Given the description of an element on the screen output the (x, y) to click on. 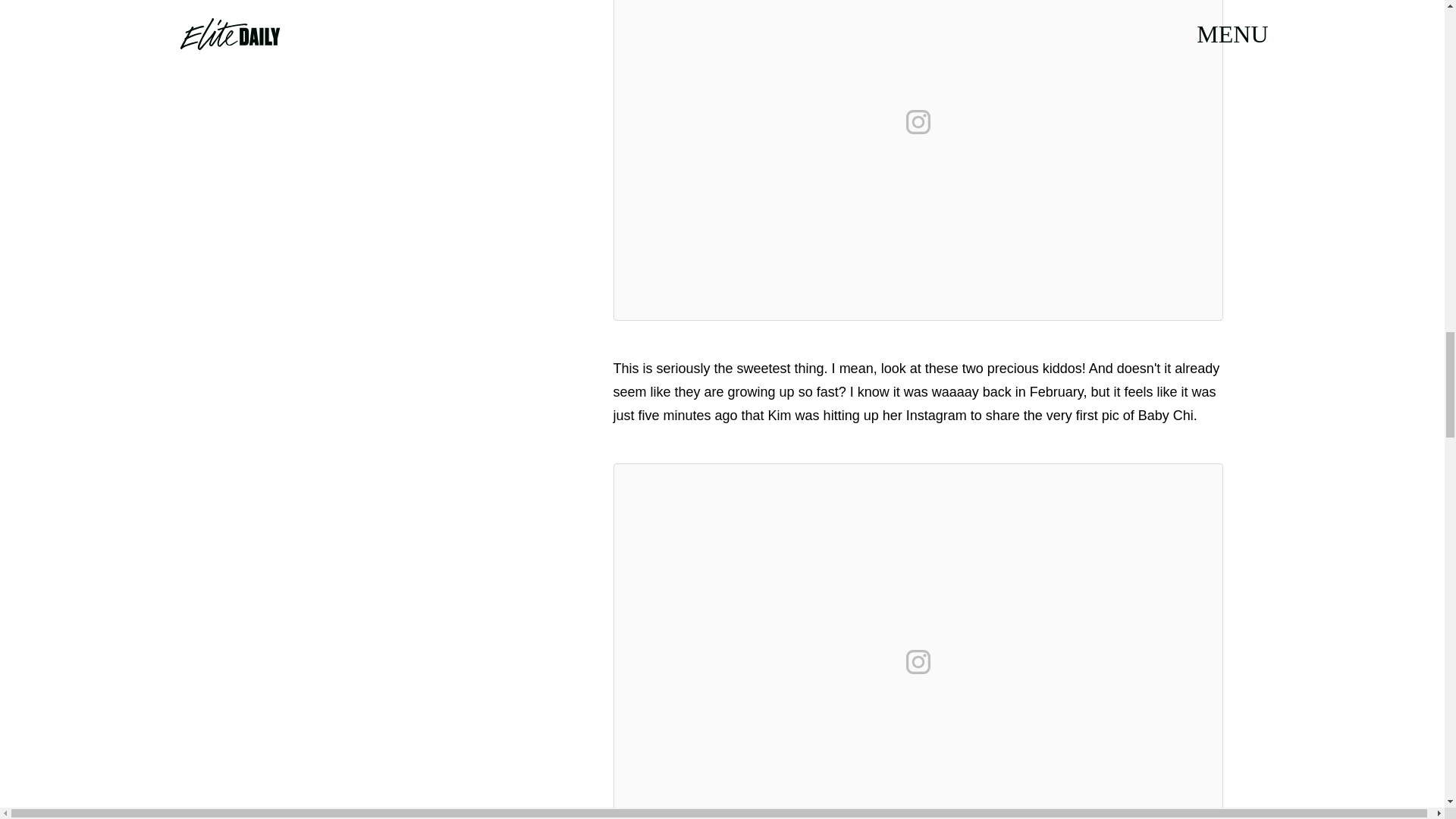
View on Instagram (917, 122)
View on Instagram (917, 661)
